Given the description of an element on the screen output the (x, y) to click on. 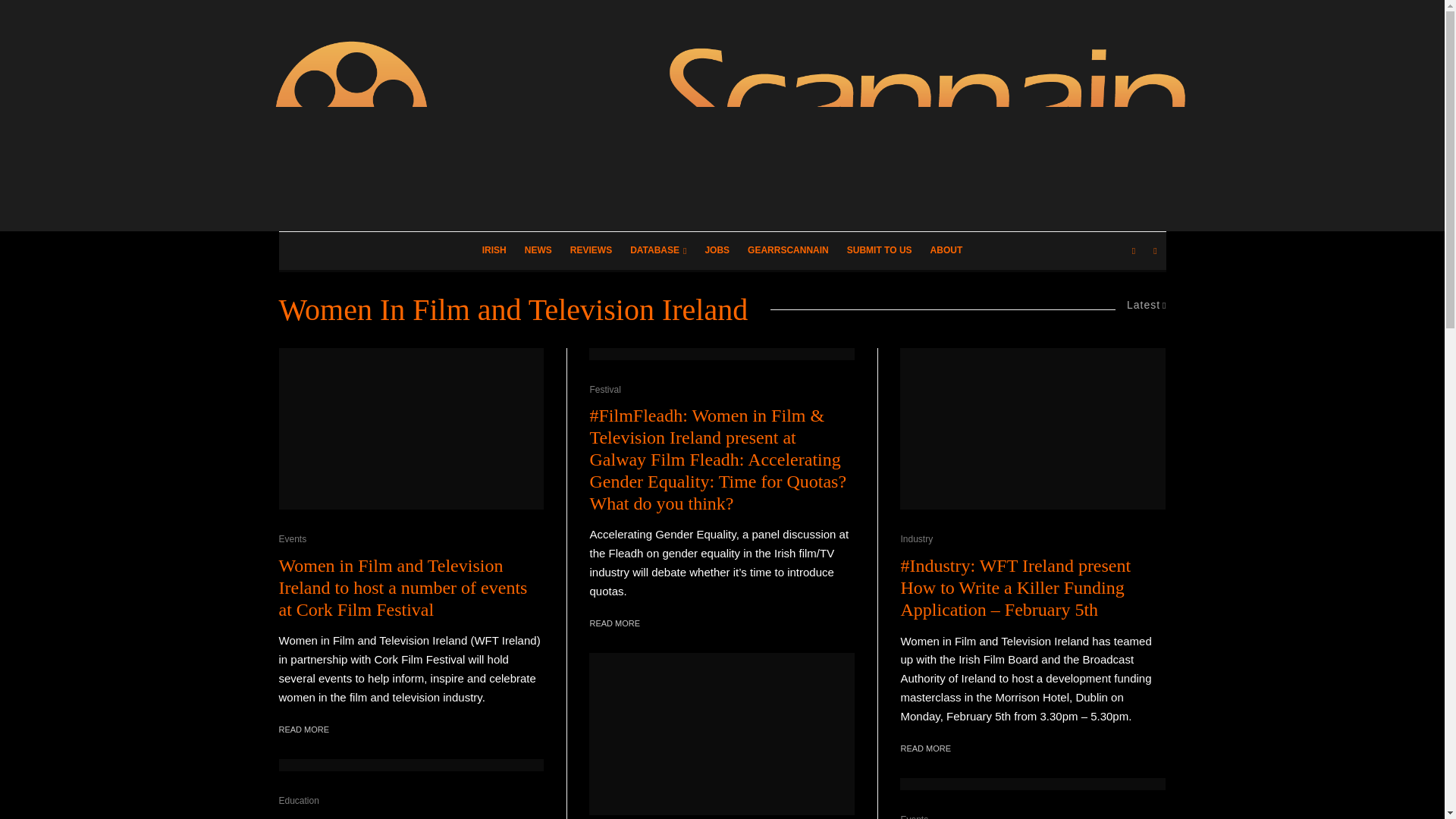
REVIEWS (590, 250)
IRISH (494, 250)
NEWS (537, 250)
DATABASE (658, 250)
